Given the description of an element on the screen output the (x, y) to click on. 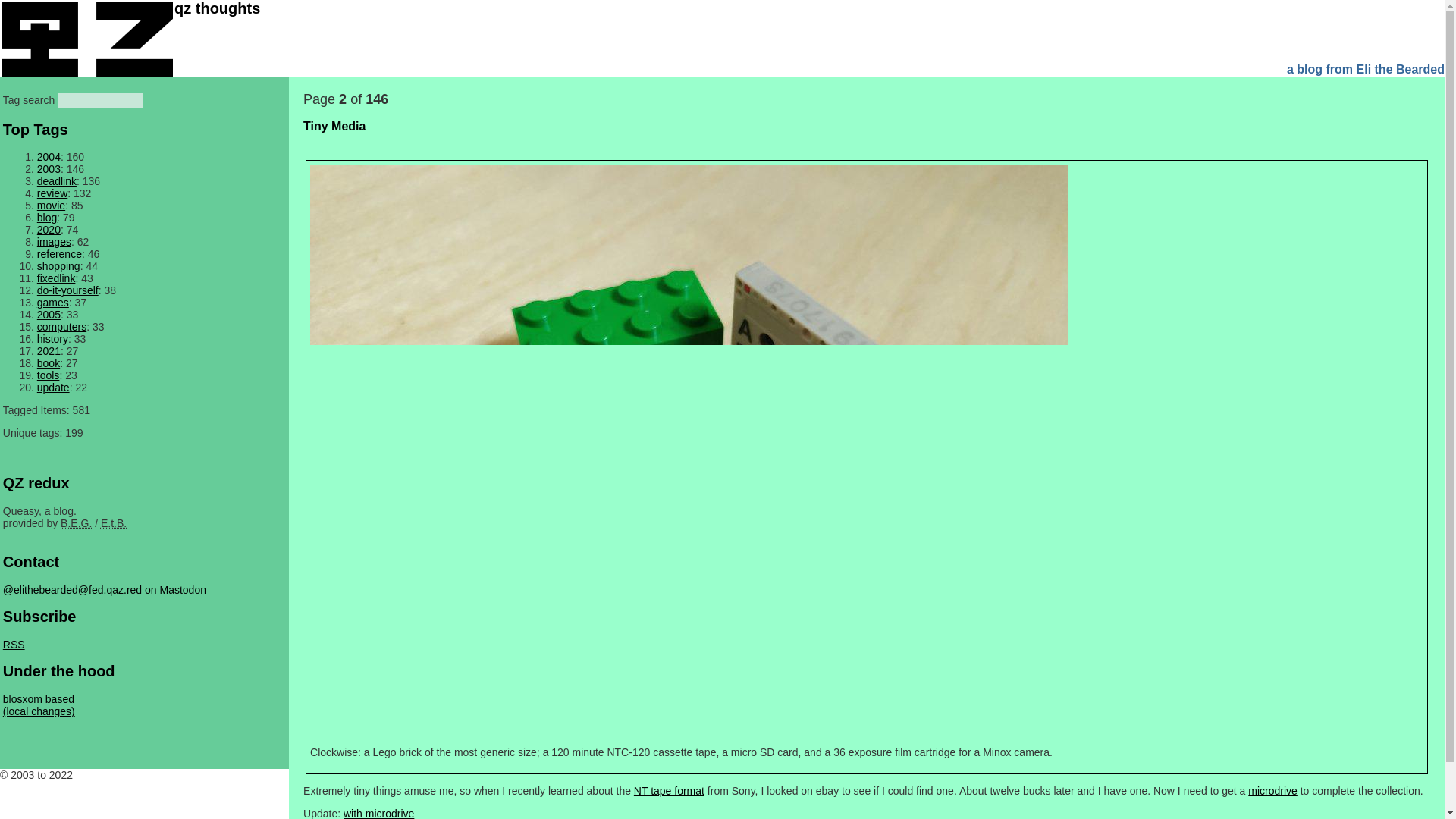
Eli the Bearded (113, 522)
microdrive (1272, 790)
2003 (49, 168)
2004 (49, 156)
review (51, 193)
NT tape format (668, 790)
qz thoughts (217, 8)
deadlink (57, 181)
blog (46, 217)
with microdrive (378, 813)
